Given the description of an element on the screen output the (x, y) to click on. 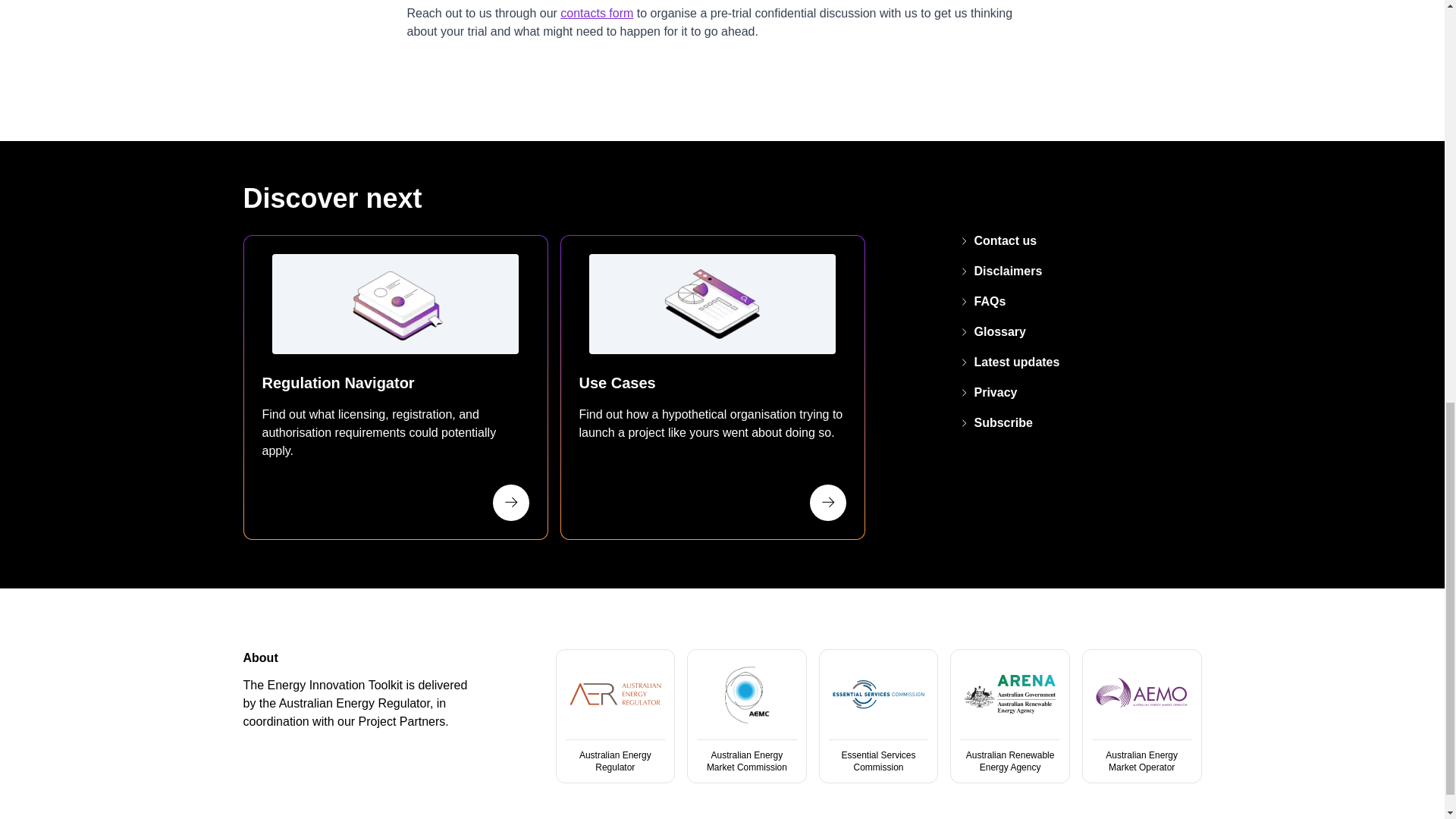
Regulation Navigator (395, 386)
FAQs (983, 300)
Case Studies (711, 386)
Subscribe to our mailing list for updates (996, 422)
